Given the description of an element on the screen output the (x, y) to click on. 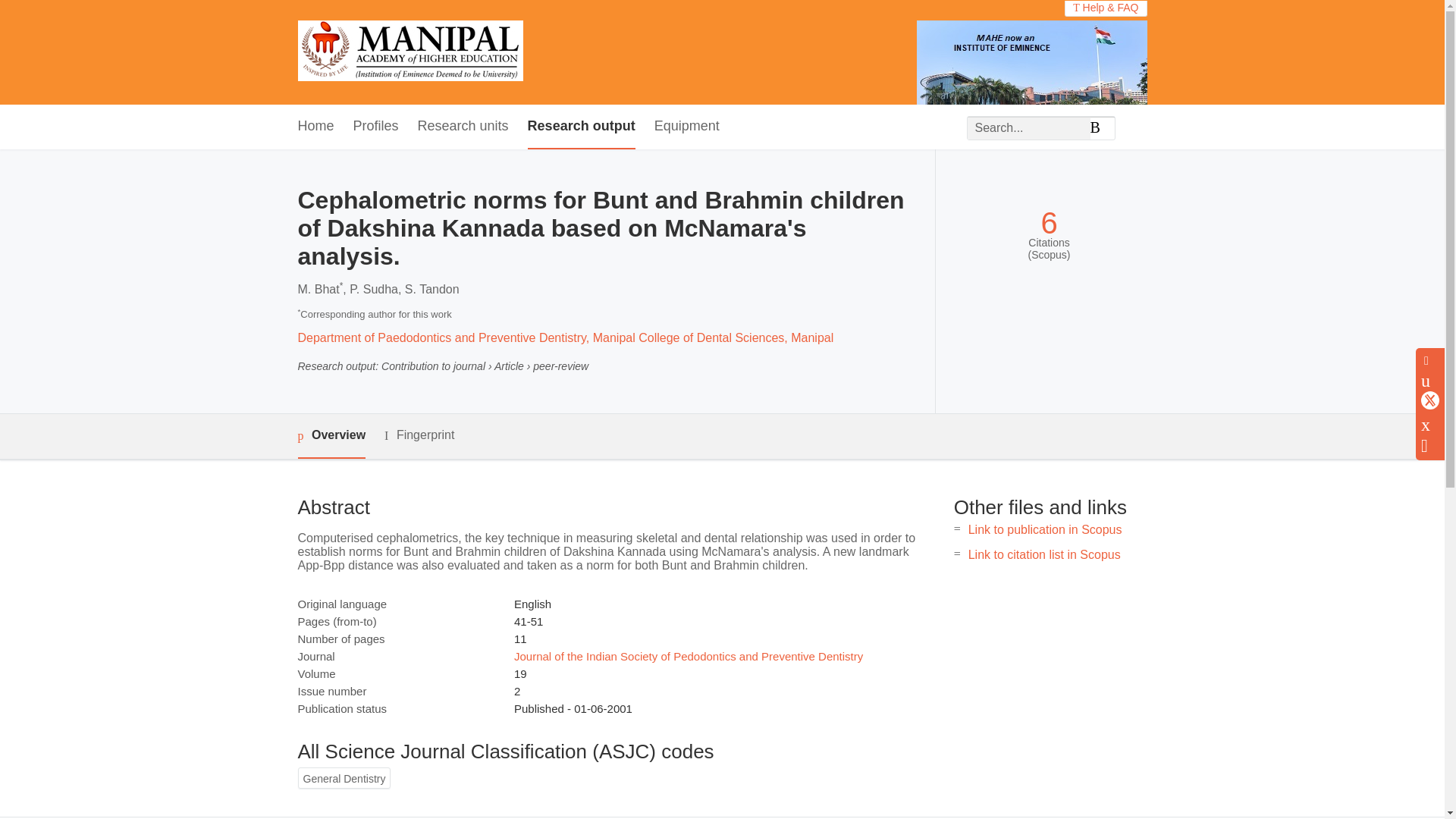
Profiles (375, 126)
Equipment (686, 126)
Link to publication in Scopus (1045, 529)
Link to citation list in Scopus (1044, 554)
Overview (331, 436)
Research units (462, 126)
Manipal Academy of Higher Education, Manipal, India Home (409, 52)
Fingerprint (419, 435)
Research output (580, 126)
